Given the description of an element on the screen output the (x, y) to click on. 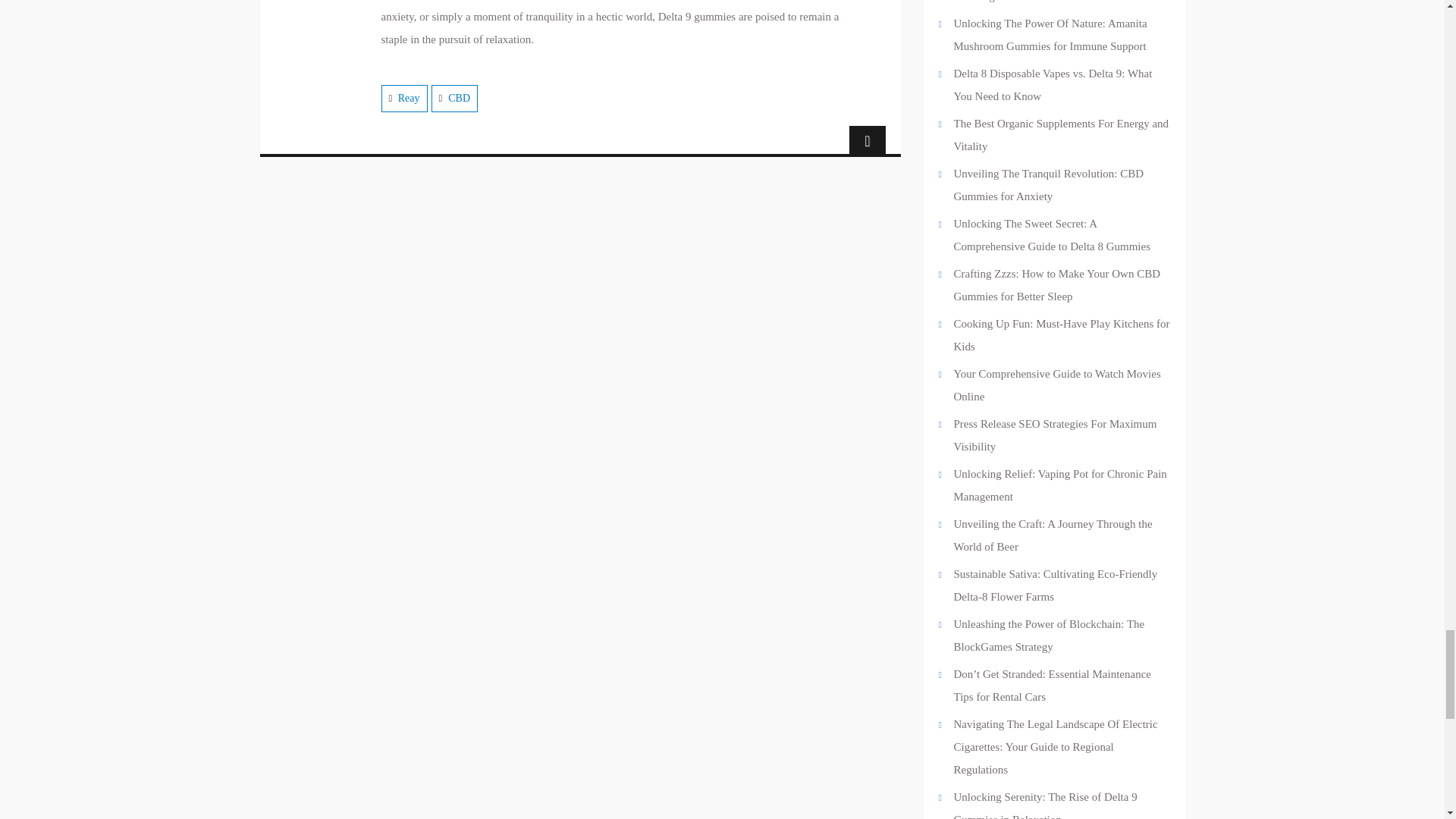
CBD (459, 98)
Reay (408, 98)
